Given the description of an element on the screen output the (x, y) to click on. 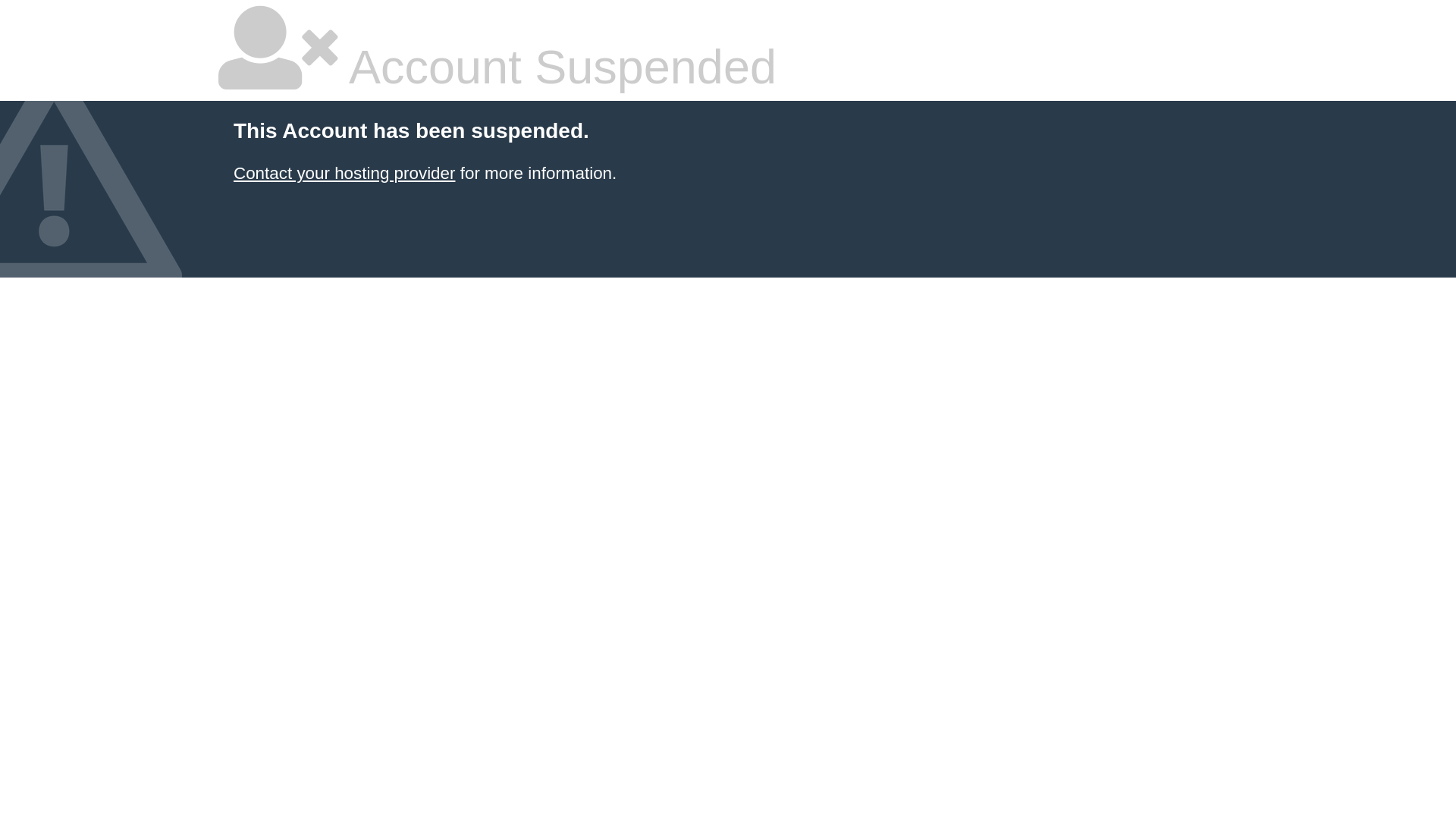
Contact your hosting provider Element type: text (344, 172)
